Given the description of an element on the screen output the (x, y) to click on. 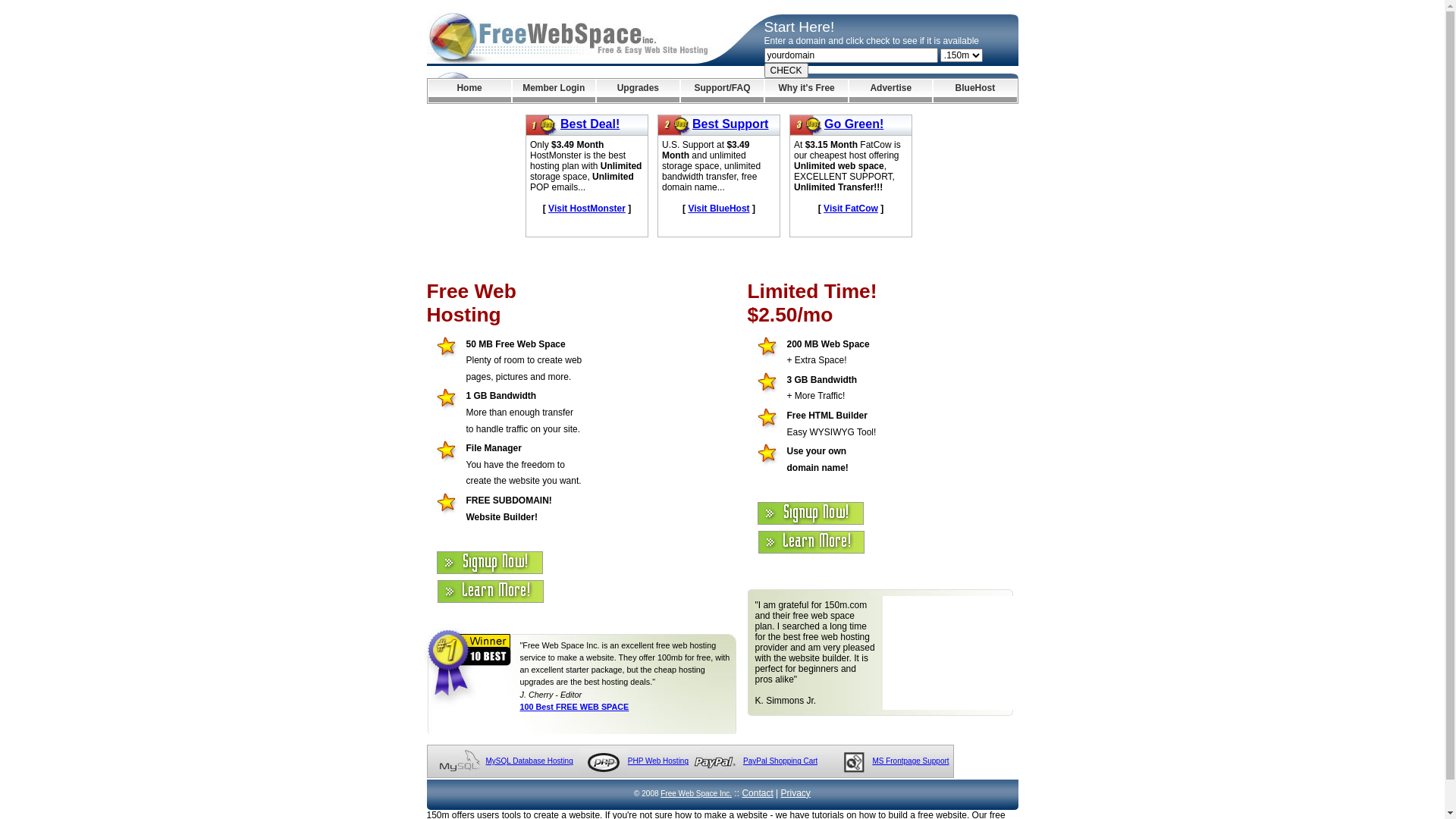
Why it's Free Element type: text (806, 90)
PHP Web Hosting Element type: text (657, 760)
100 Best FREE WEB SPACE Element type: text (574, 706)
Member Login Element type: text (553, 90)
Free Web Space Inc. Element type: text (695, 793)
Upgrades Element type: text (637, 90)
CHECK Element type: text (786, 70)
MySQL Database Hosting Element type: text (528, 760)
Privacy Element type: text (795, 792)
Contact Element type: text (756, 792)
BlueHost Element type: text (974, 90)
Home Element type: text (468, 90)
MS Frontpage Support Element type: text (910, 760)
Support/FAQ Element type: text (721, 90)
Advertise Element type: text (890, 90)
PayPal Shopping Cart Element type: text (780, 760)
